Given the description of an element on the screen output the (x, y) to click on. 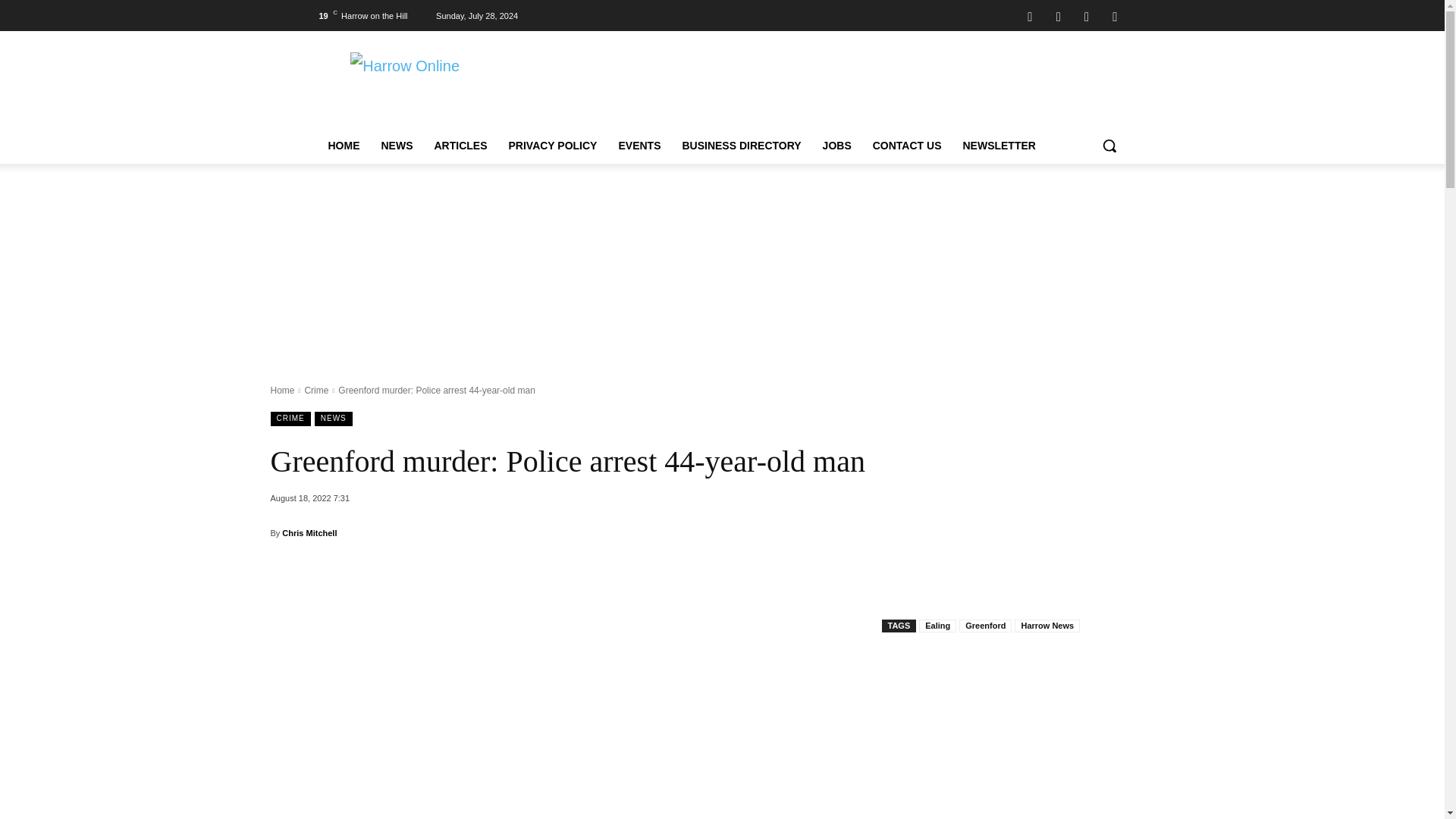
JOBS (836, 145)
Facebook (1029, 15)
CONTACT US (906, 145)
Instagram (1058, 15)
NEWS (396, 145)
HOME (343, 145)
PRIVACY POLICY (552, 145)
TikTok (1086, 15)
EVENTS (639, 145)
ARTICLES (460, 145)
BUSINESS DIRECTORY (740, 145)
NEWSLETTER (998, 145)
